Given the description of an element on the screen output the (x, y) to click on. 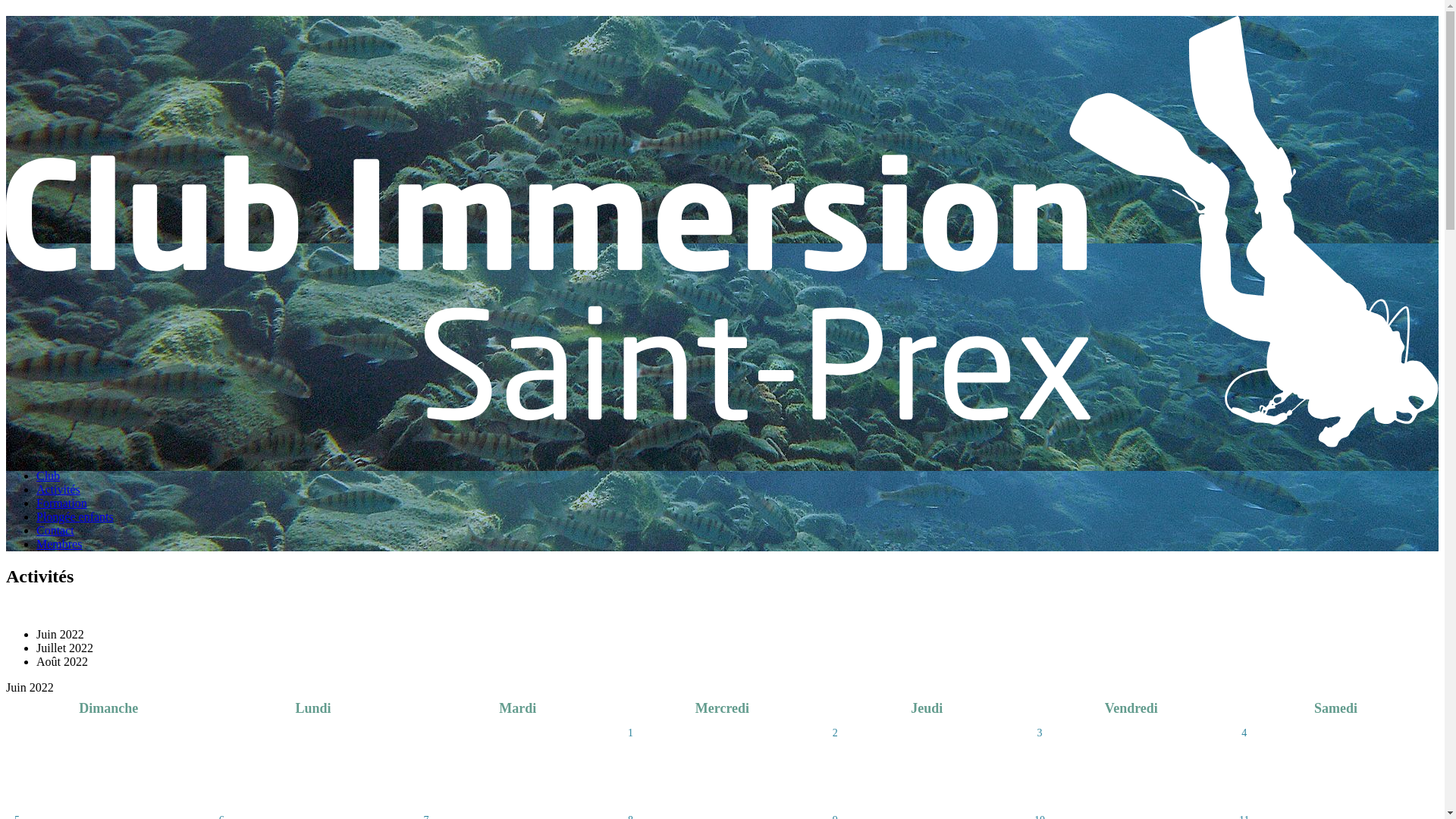
Contact Element type: text (55, 530)
Formation Element type: text (61, 502)
Membres Element type: text (58, 543)
Club Element type: text (47, 475)
